Given the description of an element on the screen output the (x, y) to click on. 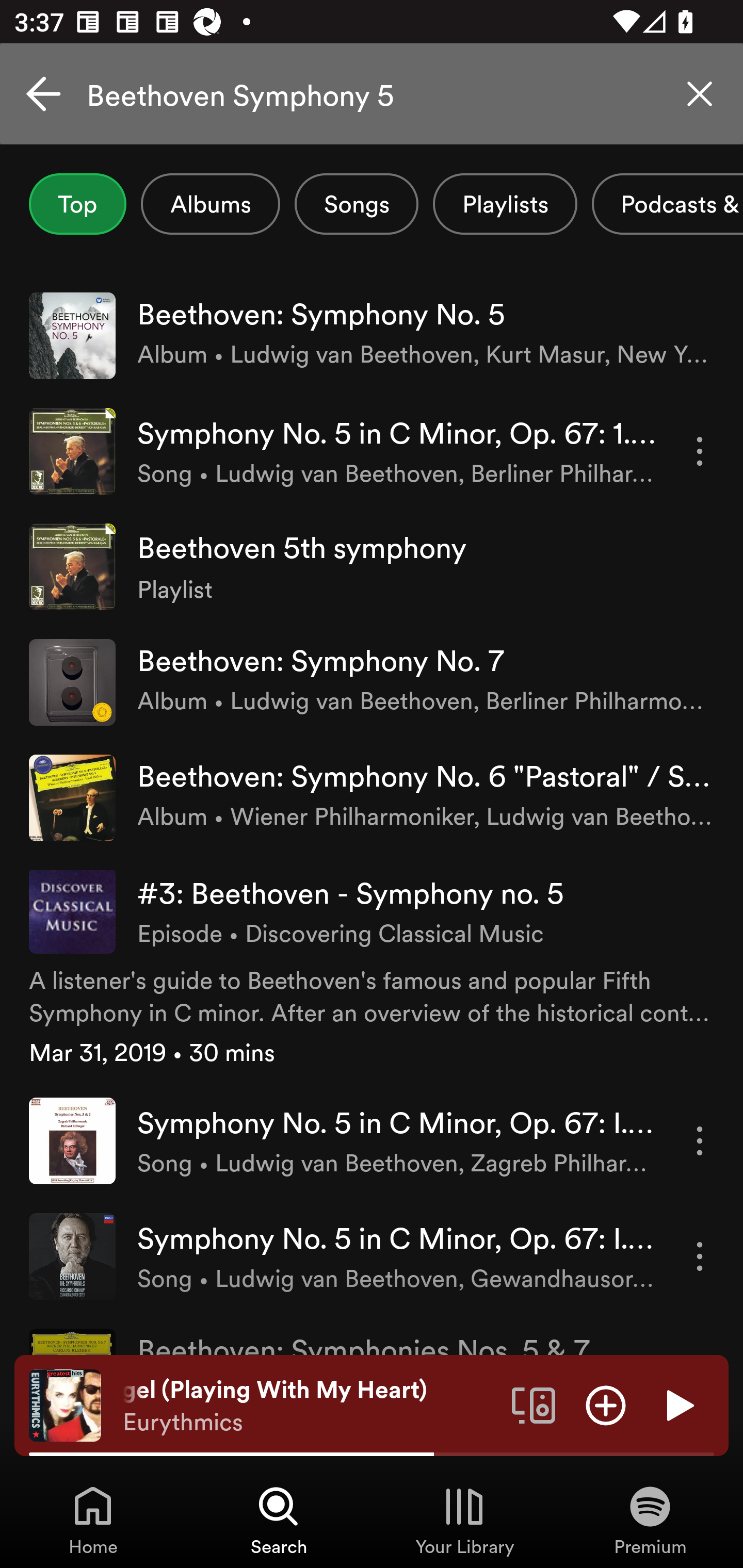
Beethoven Symphony 5 (371, 93)
Cancel (43, 93)
Clear search query (699, 93)
Top (77, 203)
Albums (210, 203)
Songs (356, 203)
Playlists (505, 203)
Podcasts & Shows (667, 203)
Beethoven 5th symphony Playlist (371, 566)
The cover art of the currently playing track (64, 1404)
Connect to a device. Opens the devices menu (533, 1404)
Add item (605, 1404)
Play (677, 1404)
Home, Tab 1 of 4 Home Home (92, 1519)
Search, Tab 2 of 4 Search Search (278, 1519)
Your Library, Tab 3 of 4 Your Library Your Library (464, 1519)
Premium, Tab 4 of 4 Premium Premium (650, 1519)
